Given the description of an element on the screen output the (x, y) to click on. 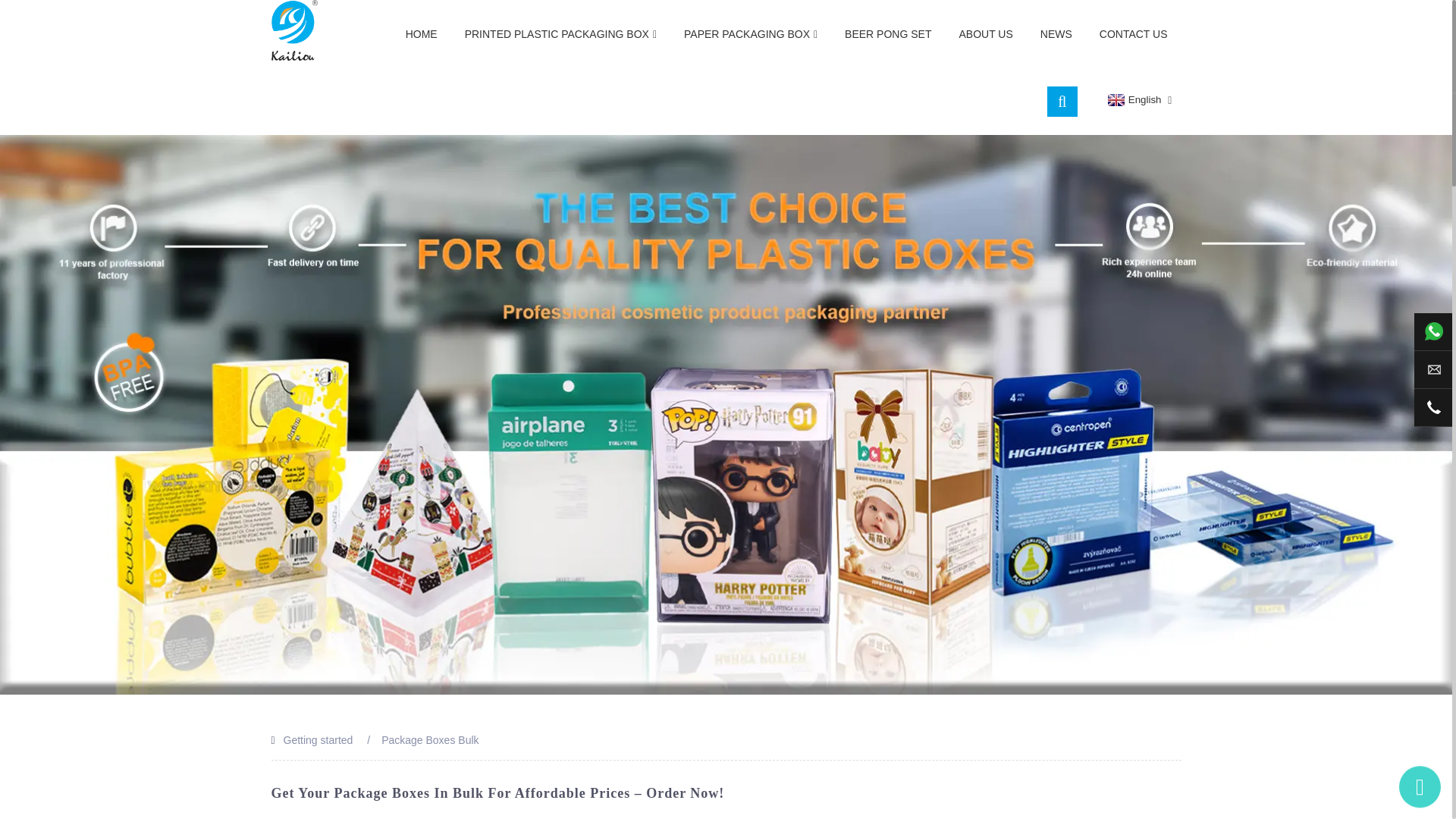
PAPER PACKAGING BOX (750, 34)
PRINTED PLASTIC PACKAGING BOX (560, 34)
ABOUT US (985, 33)
English (1132, 100)
Getting started (318, 739)
BEER PONG SET (887, 33)
CONTACT US (1133, 33)
Package Boxes Bulk (430, 739)
